Given the description of an element on the screen output the (x, y) to click on. 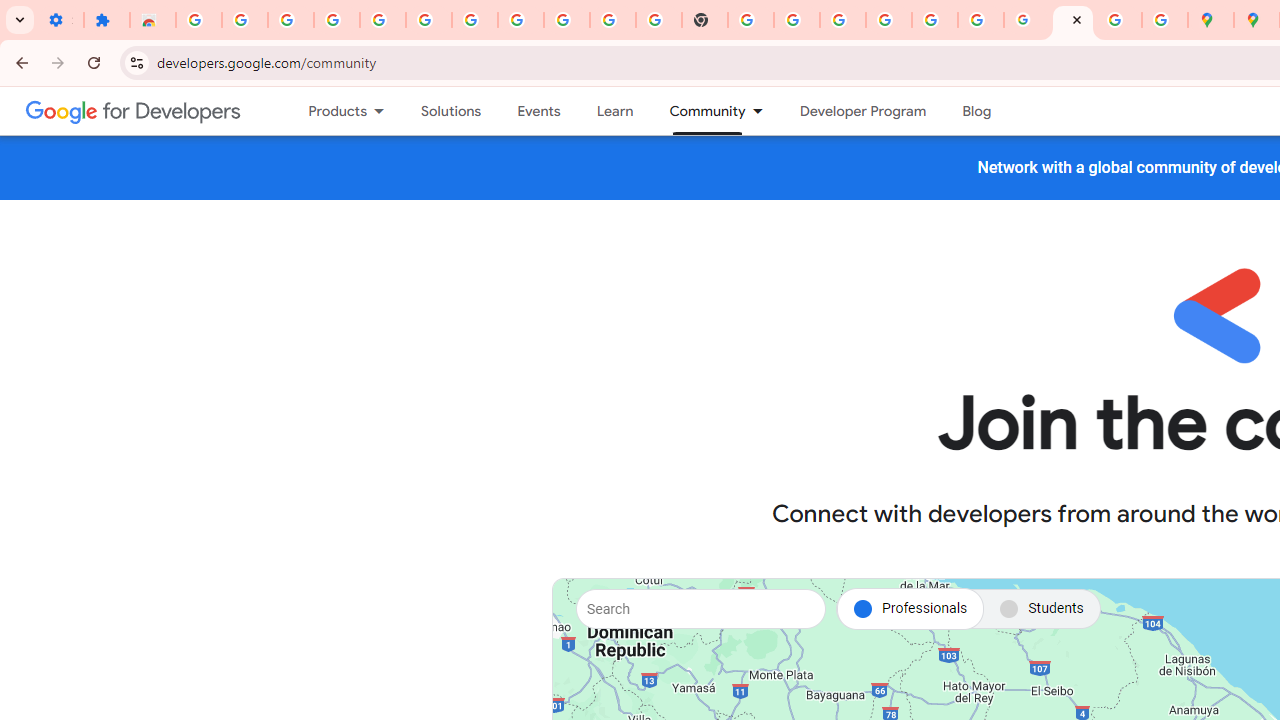
Safety in Our Products - Google Safety Center (1164, 20)
Sign in - Google Accounts (198, 20)
Delete photos & videos - Computer - Google Photos Help (336, 20)
Solutions (451, 111)
Google Account (567, 20)
Sign in - Google Accounts (474, 20)
Learning Catalog (614, 111)
Settings - On startup (60, 20)
Google for Developers (133, 110)
